Given the description of an element on the screen output the (x, y) to click on. 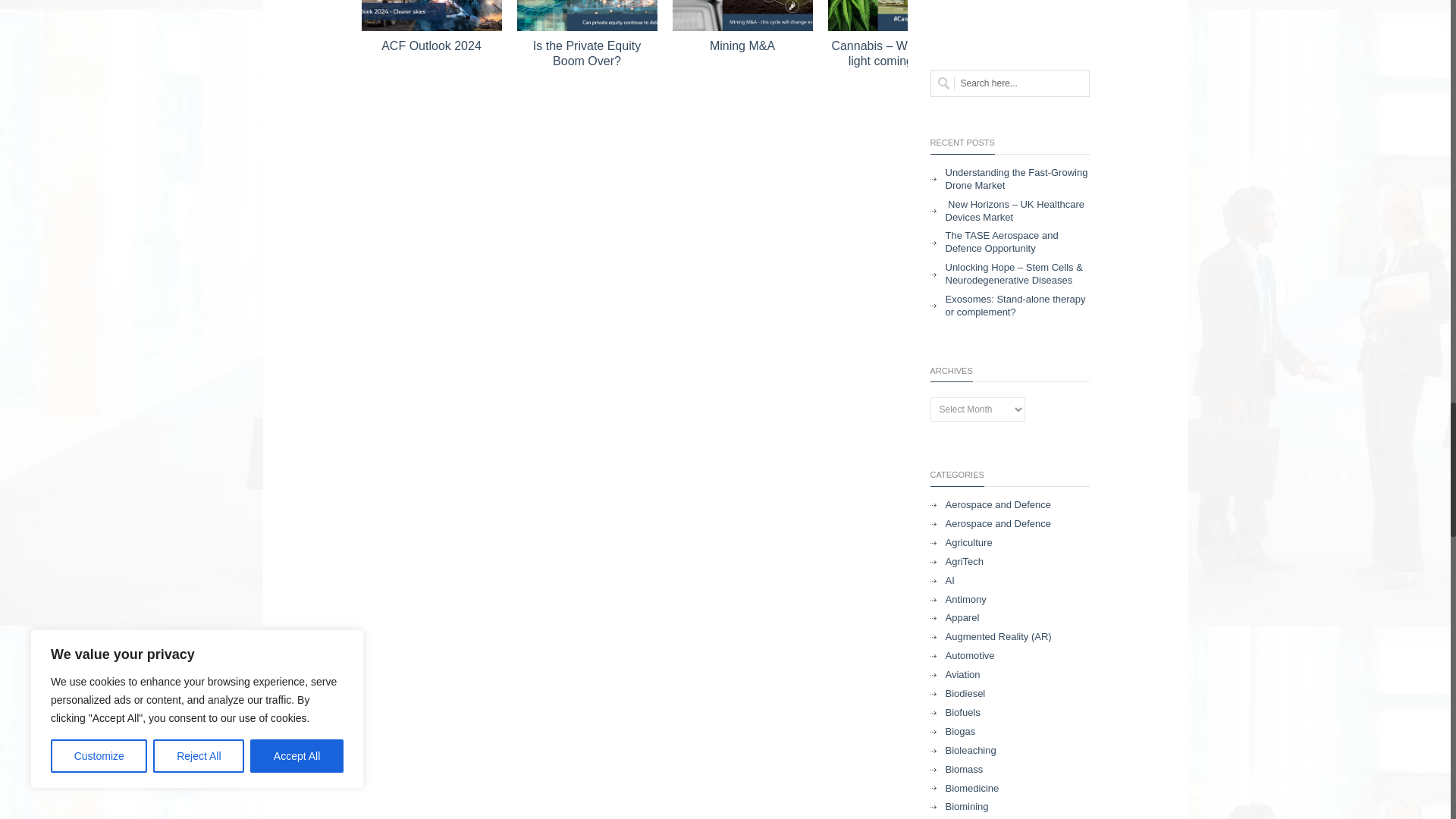
Is the Private Equity Boom Over? (587, 15)
ACF Outlook 2024 (430, 15)
Search here... (1009, 83)
